Given the description of an element on the screen output the (x, y) to click on. 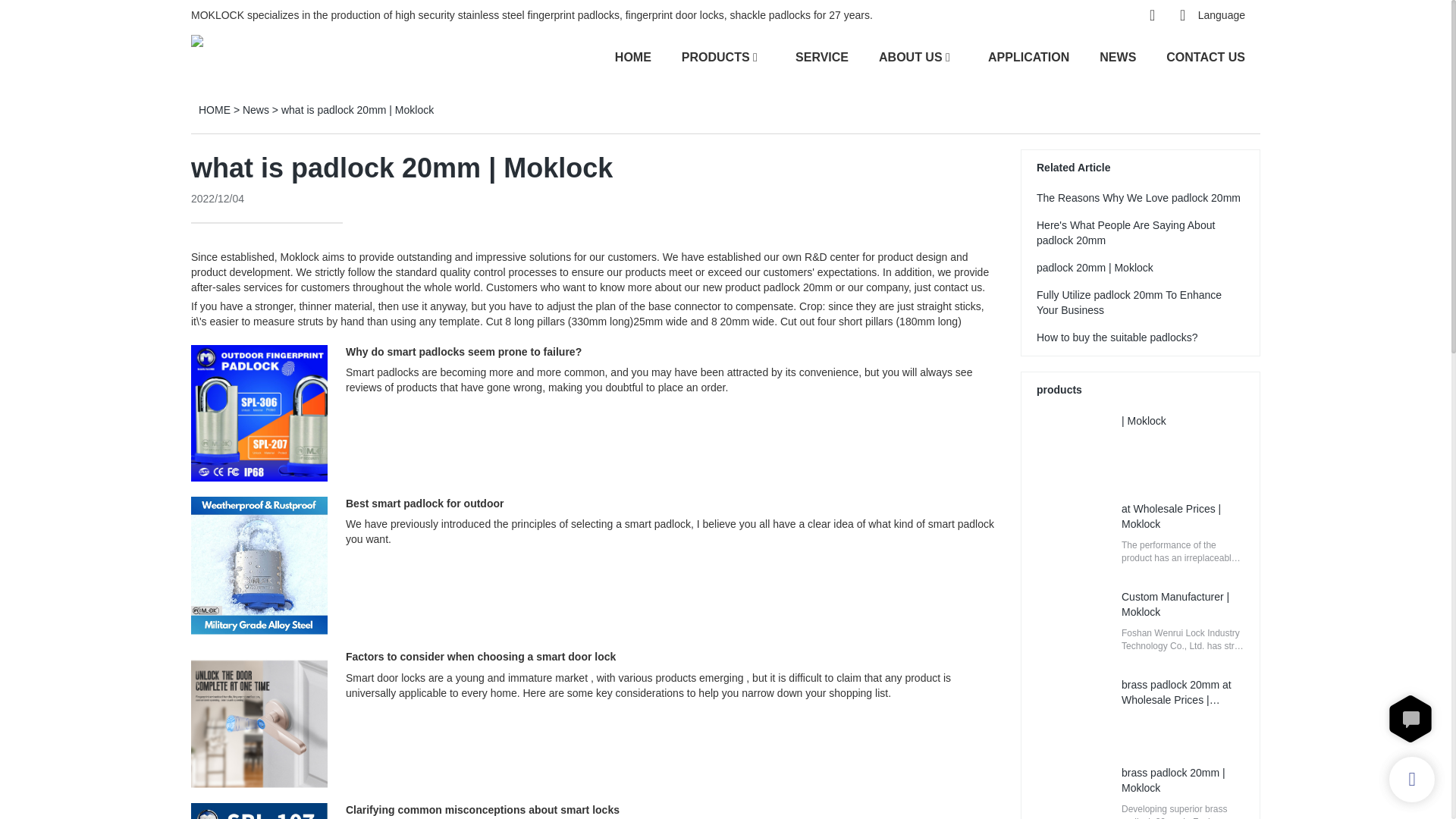
APPLICATION (1028, 56)
HOME (214, 110)
PRODUCTS (715, 56)
CONTACT US (1205, 56)
Factors to consider when choosing a smart door lock (480, 656)
Clarifying common misconceptions about smart locks (483, 809)
HOME (632, 56)
Why do smart padlocks seem prone to failure? (463, 351)
Best smart padlock for outdoor (424, 503)
ABOUT US (910, 56)
